Given the description of an element on the screen output the (x, y) to click on. 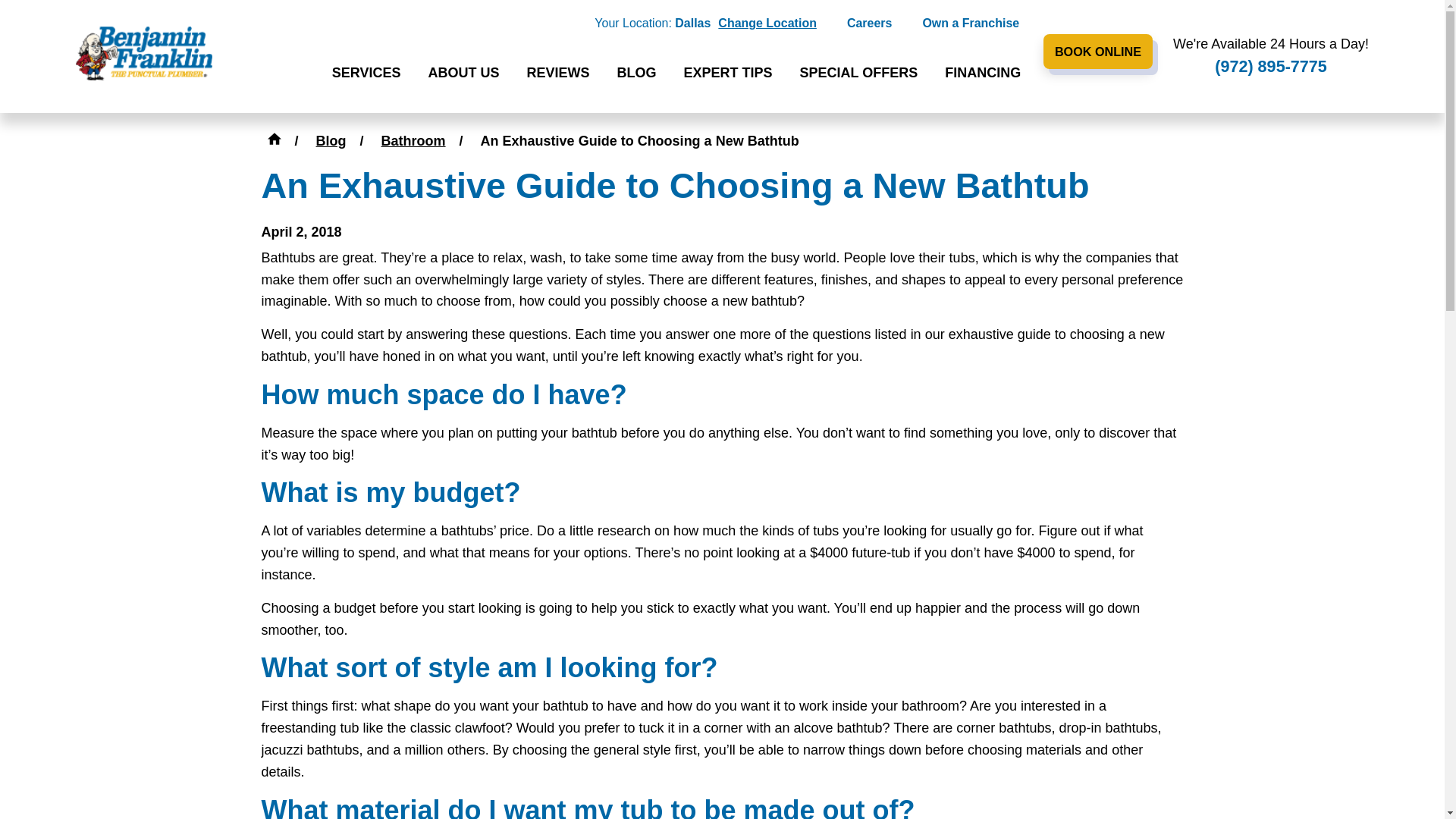
Change Location (766, 24)
SERVICES (366, 74)
Careers (869, 24)
Own a Franchise (970, 24)
